Given the description of an element on the screen output the (x, y) to click on. 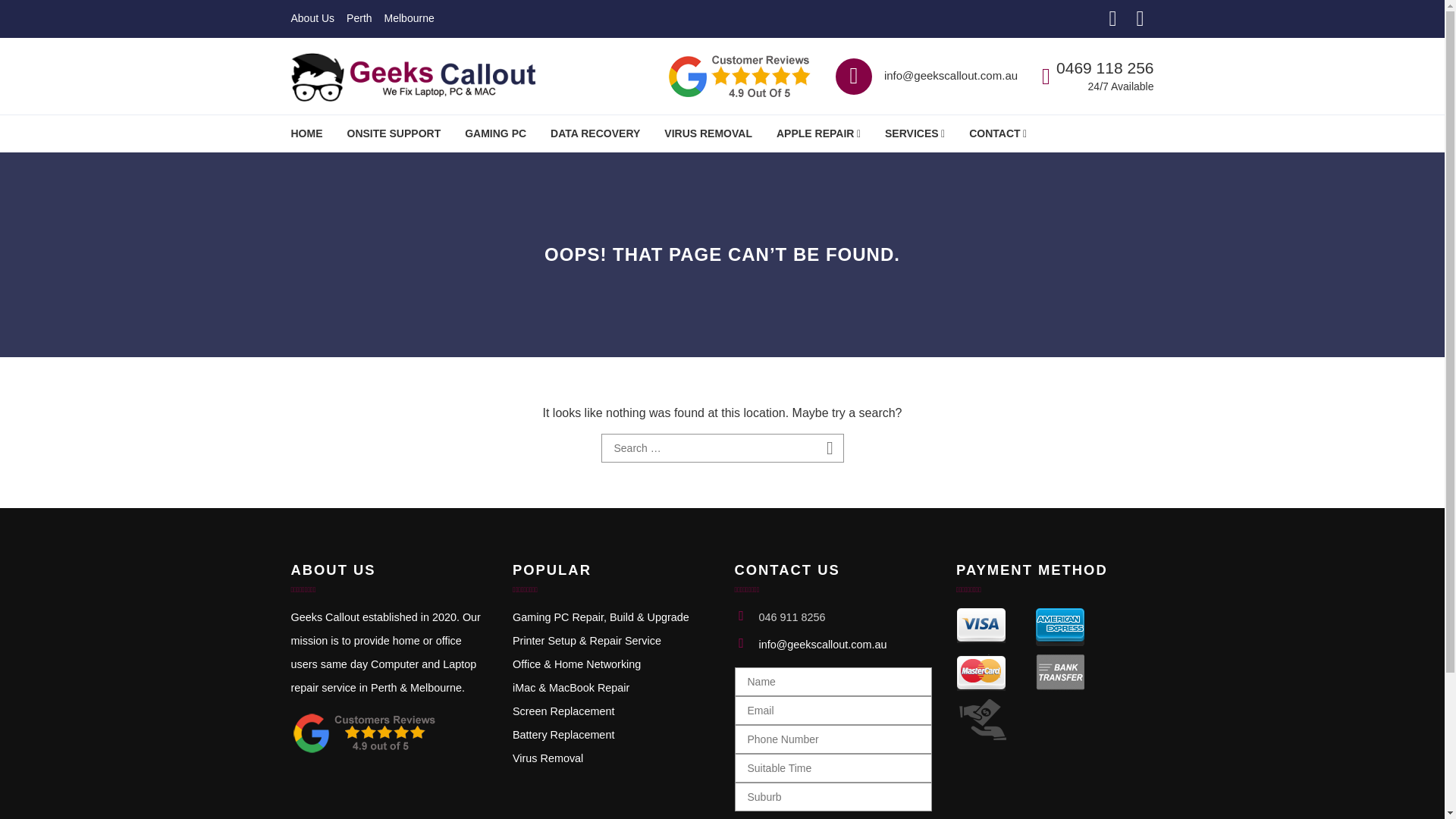
Melbourne (408, 18)
0469 118 256 (1105, 67)
About Us (312, 18)
Perth (358, 18)
